Given the description of an element on the screen output the (x, y) to click on. 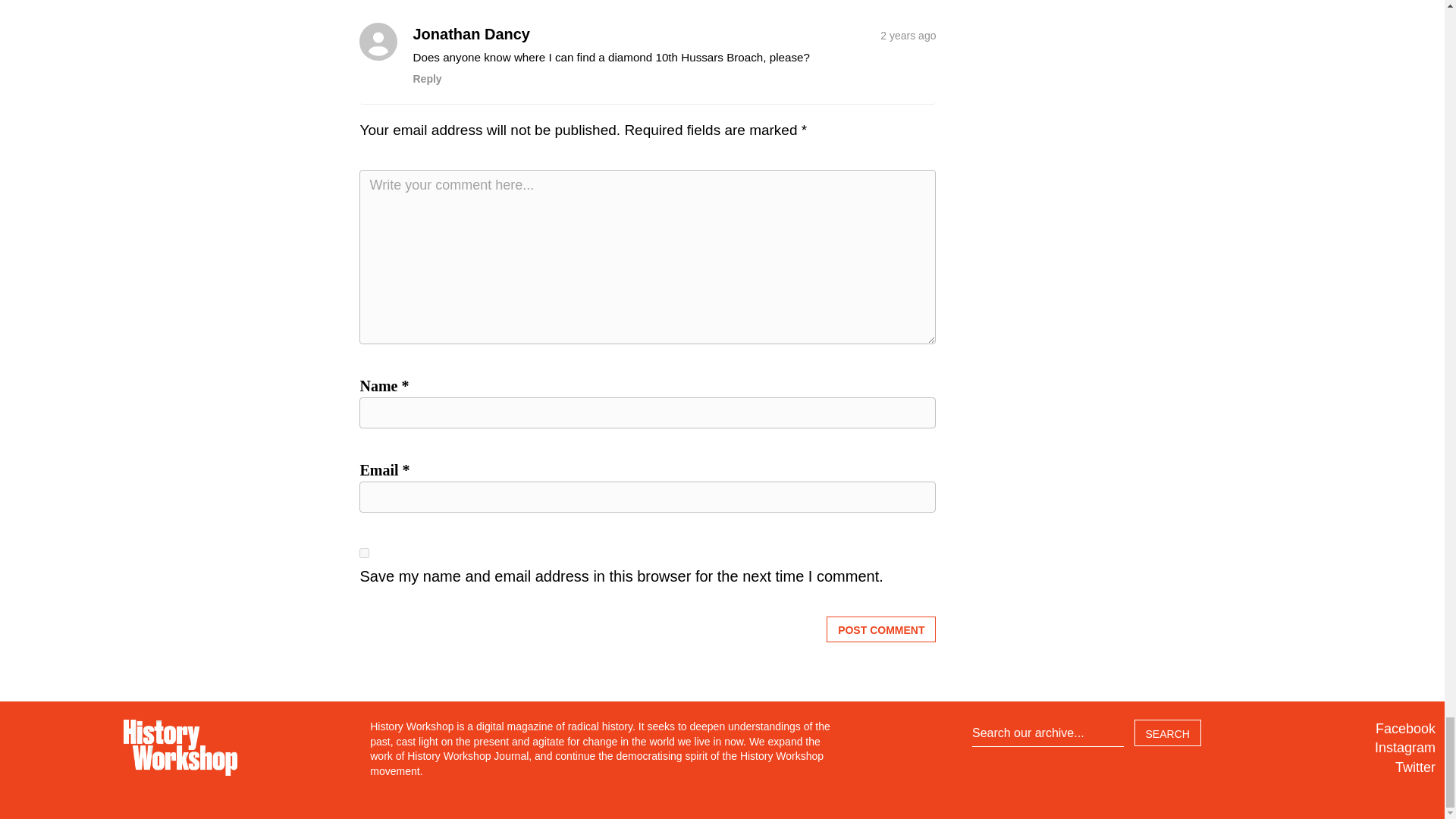
Search (1167, 732)
yes (364, 552)
Post Comment (881, 629)
Reply (426, 78)
Search (1167, 732)
Post Comment (881, 629)
2 years ago (908, 33)
